Given the description of an element on the screen output the (x, y) to click on. 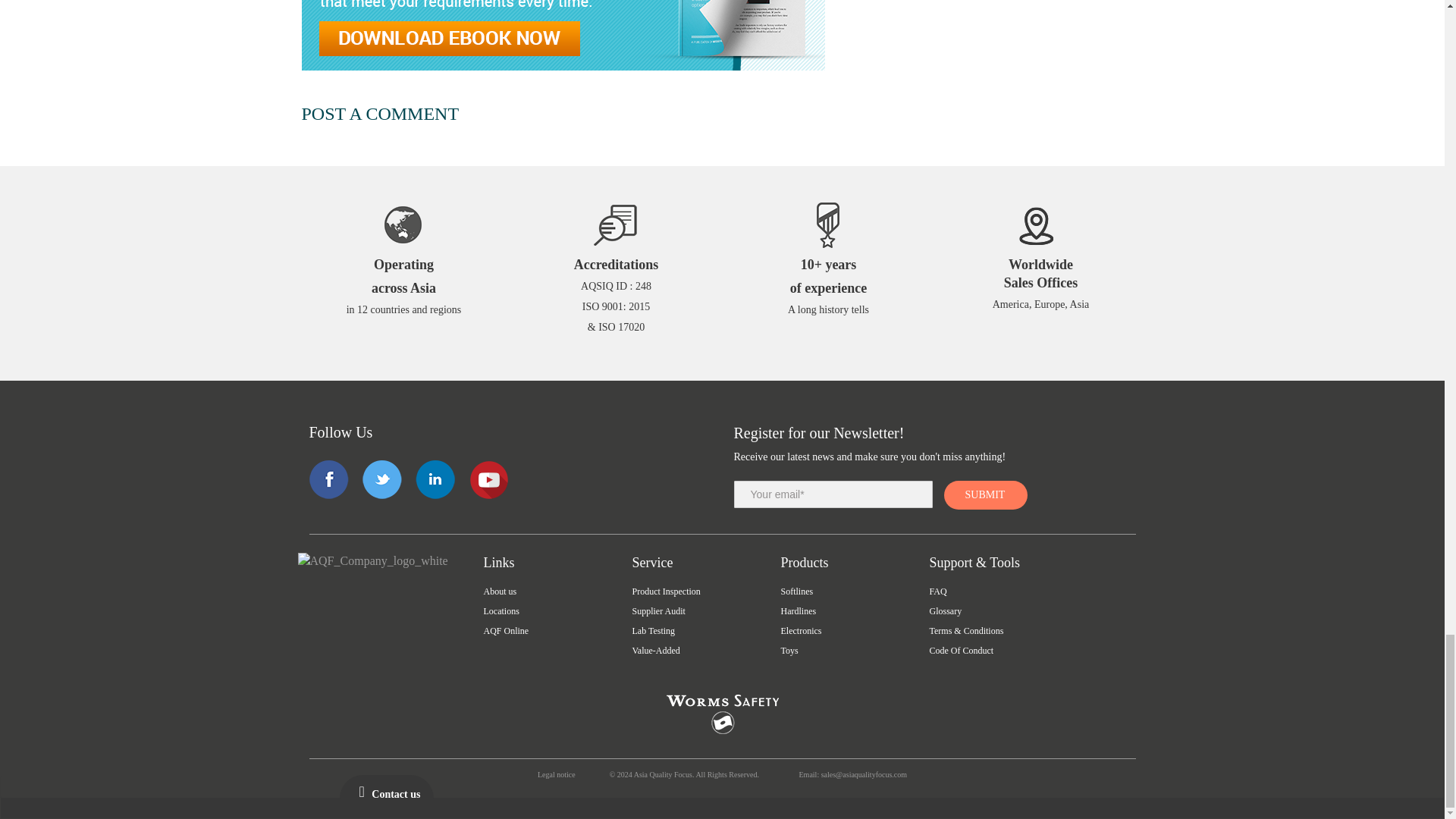
Submit (985, 494)
Legal notice (556, 774)
